Given the description of an element on the screen output the (x, y) to click on. 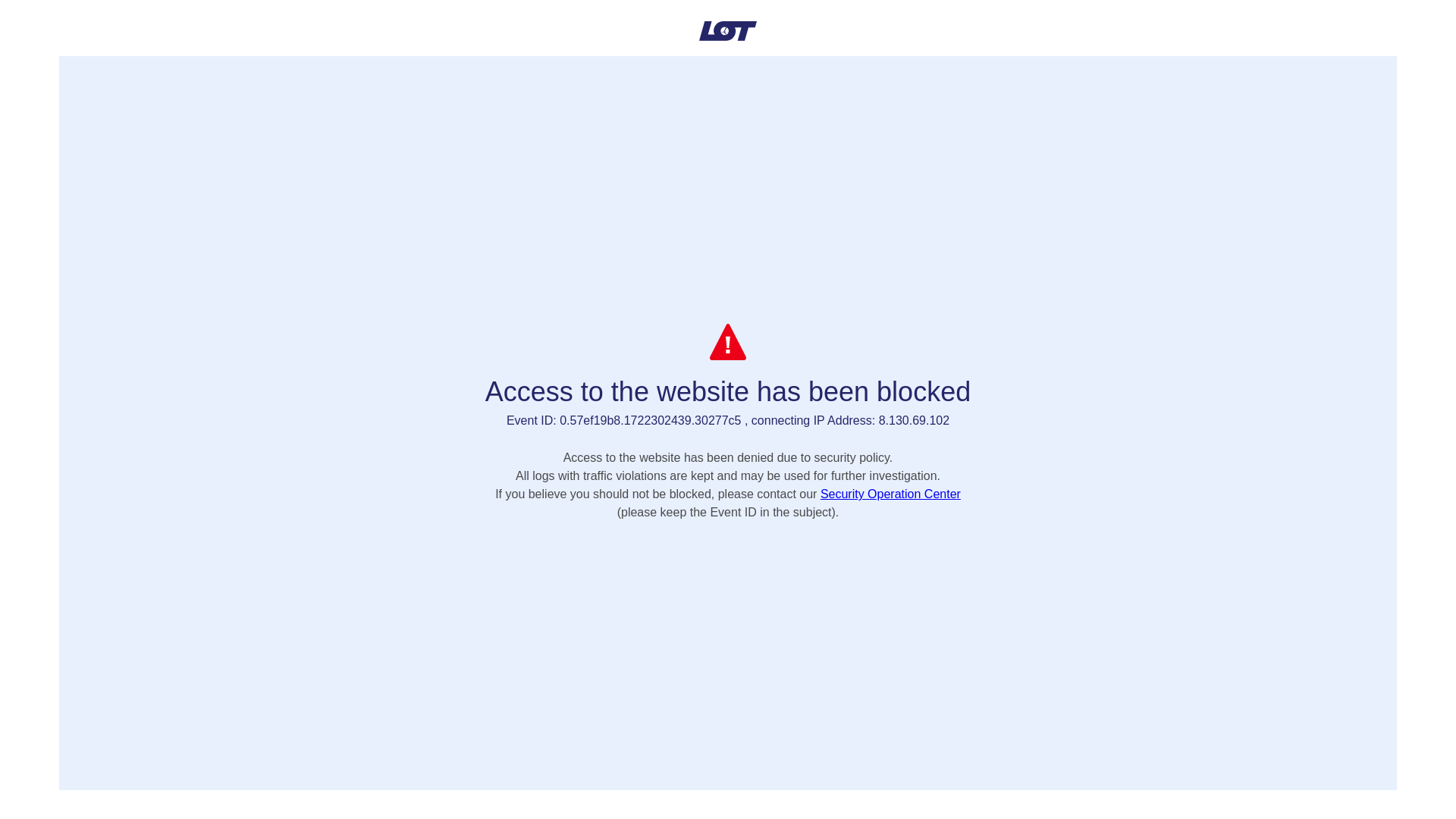
Security Operation Center (890, 493)
